Given the description of an element on the screen output the (x, y) to click on. 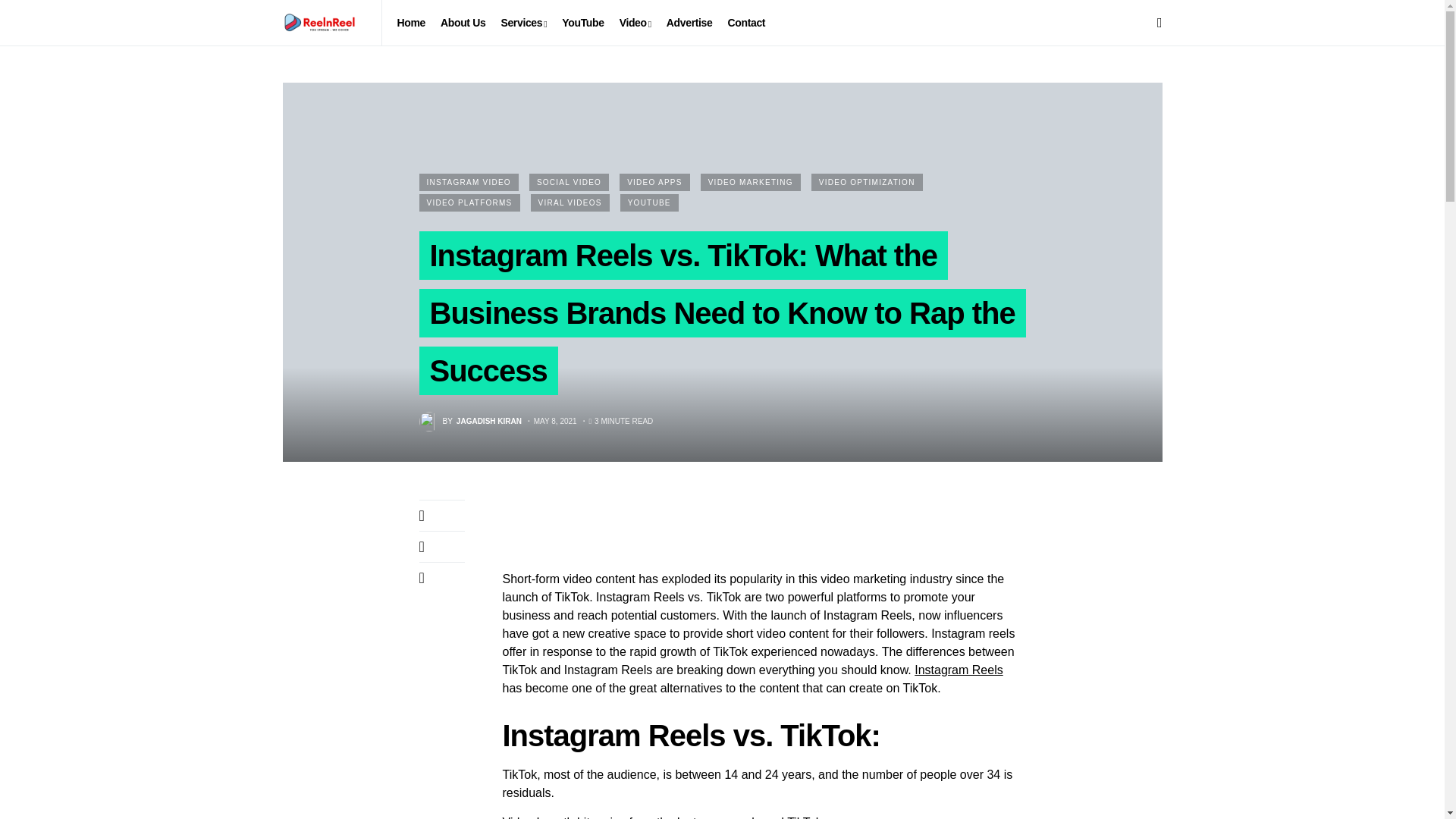
View all posts by Jagadish Kiran (470, 421)
